Given the description of an element on the screen output the (x, y) to click on. 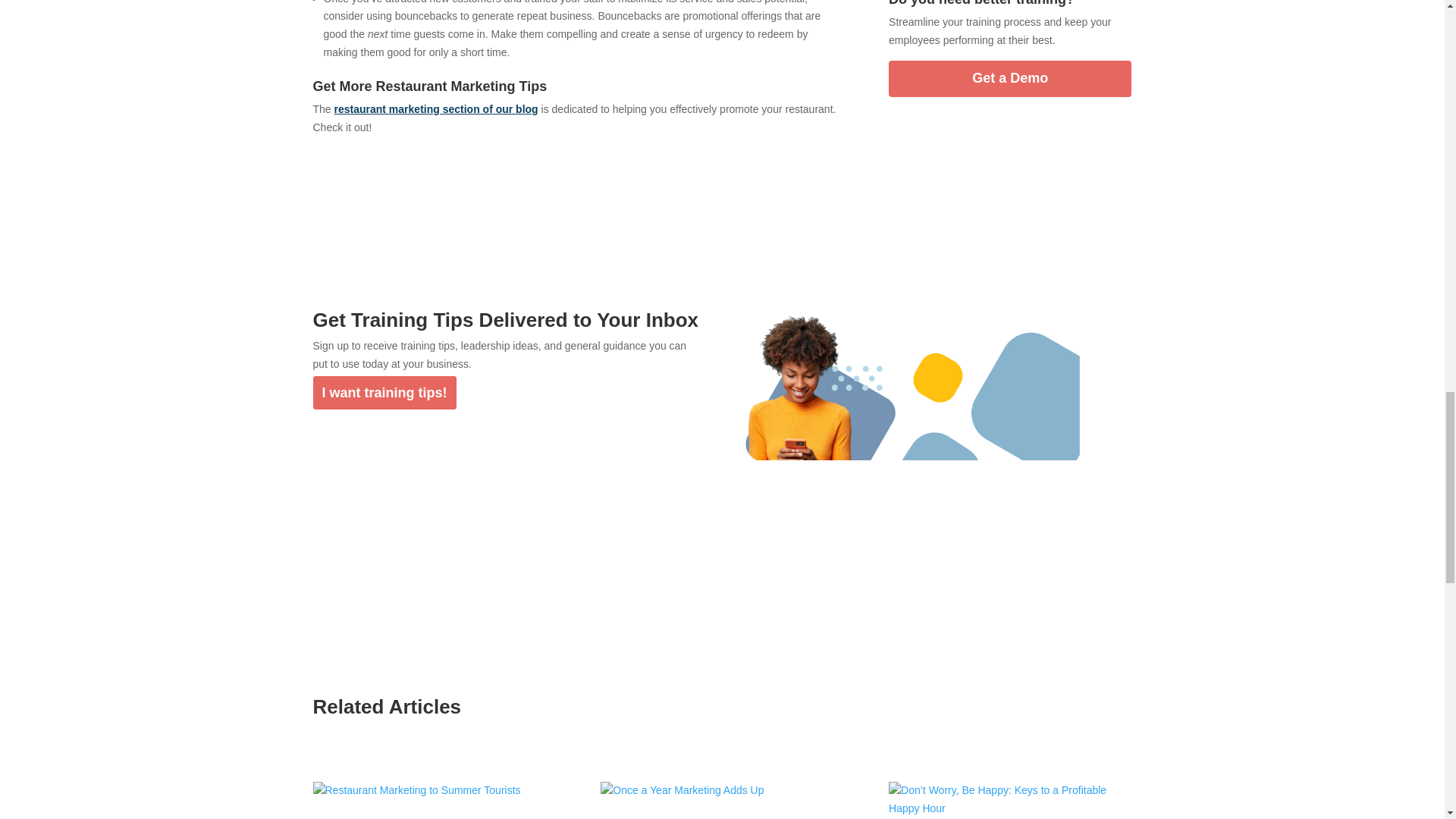
Get a Demo (1009, 78)
blog-post-cta-image (912, 416)
restaurant marketing section of our blog (436, 109)
I want training tips! (384, 392)
